Given the description of an element on the screen output the (x, y) to click on. 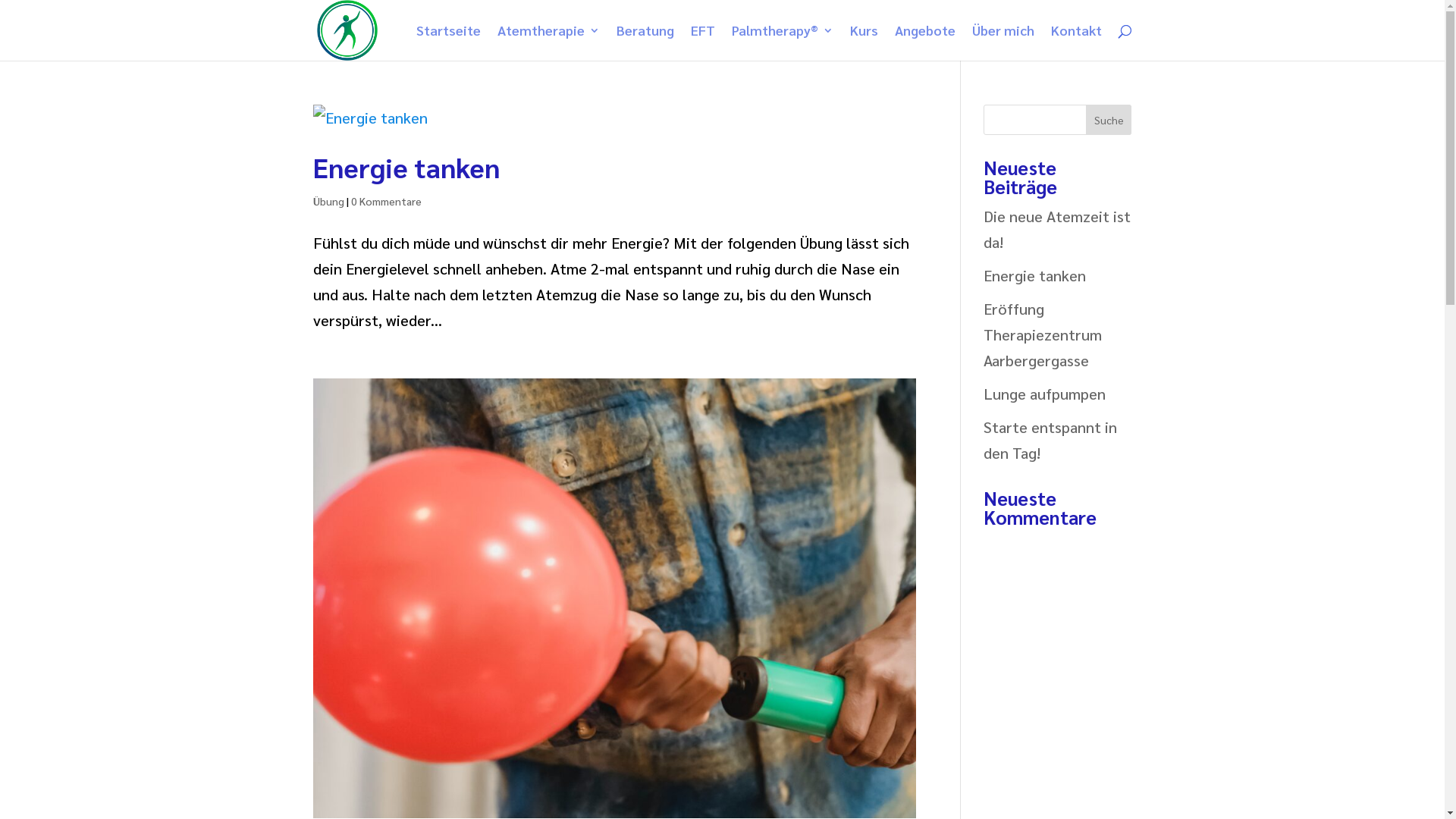
Kurs Element type: text (863, 42)
Kontakt Element type: text (1076, 42)
Energie tanken Element type: text (1034, 275)
Starte entspannt in den Tag! Element type: text (1050, 439)
Angebote Element type: text (924, 42)
Lunge aufpumpen Element type: text (1044, 393)
Suche Element type: text (1108, 119)
Die neue Atemzeit ist da! Element type: text (1056, 228)
Energie tanken Element type: text (405, 166)
Beratung Element type: text (644, 42)
0 Kommentare Element type: text (385, 200)
Atemtherapie Element type: text (548, 42)
EFT Element type: text (702, 42)
Startseite Element type: text (447, 42)
